Given the description of an element on the screen output the (x, y) to click on. 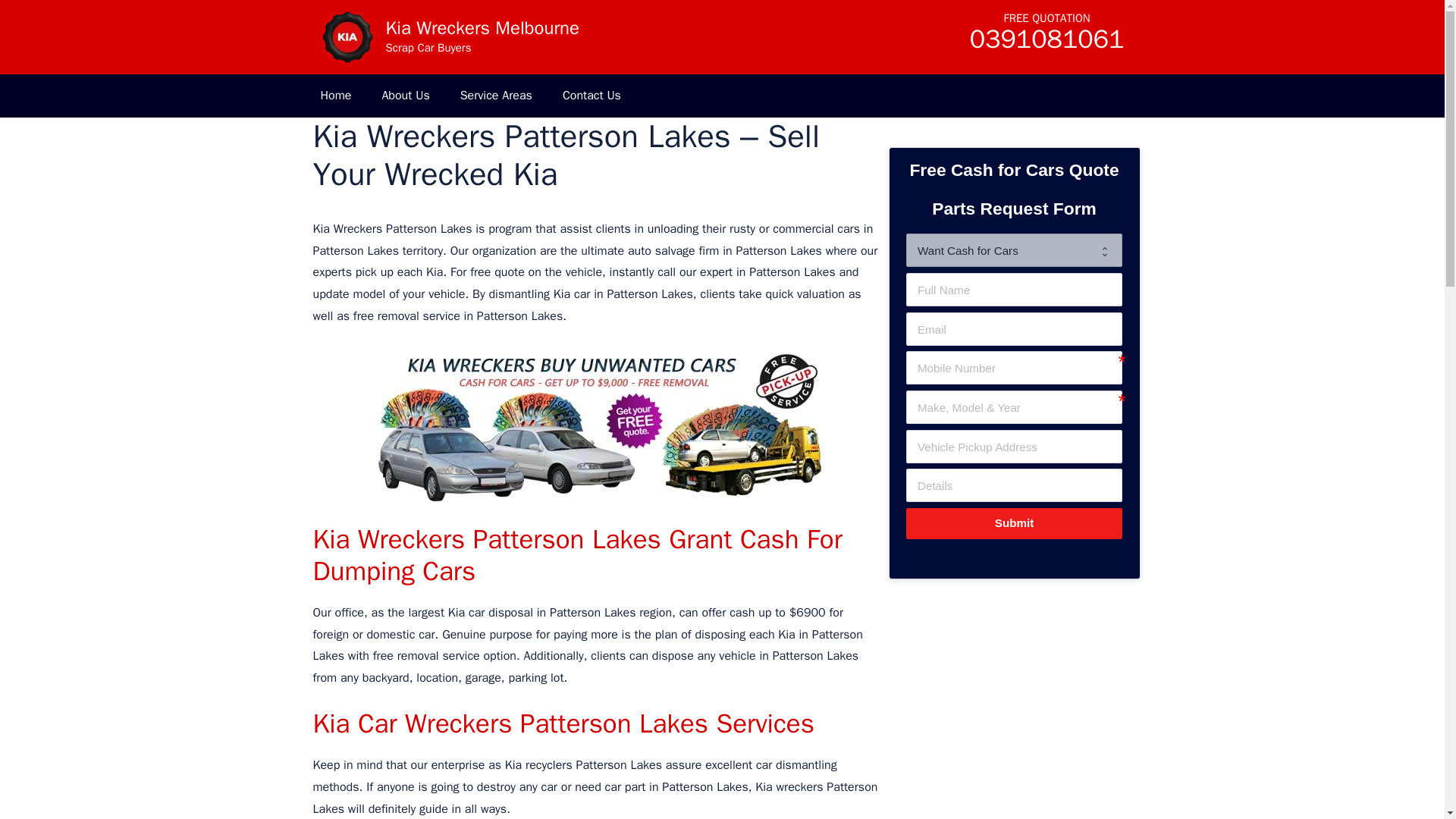
Kia Wreckers Melbourne (346, 36)
0391081061 (1046, 44)
Kia Wreckers Melbourne (481, 27)
Kia Wreckers Melbourne (346, 36)
About Us (405, 95)
Contact Us (591, 95)
Home (335, 95)
Submit (1013, 522)
Service Areas (496, 95)
